Given the description of an element on the screen output the (x, y) to click on. 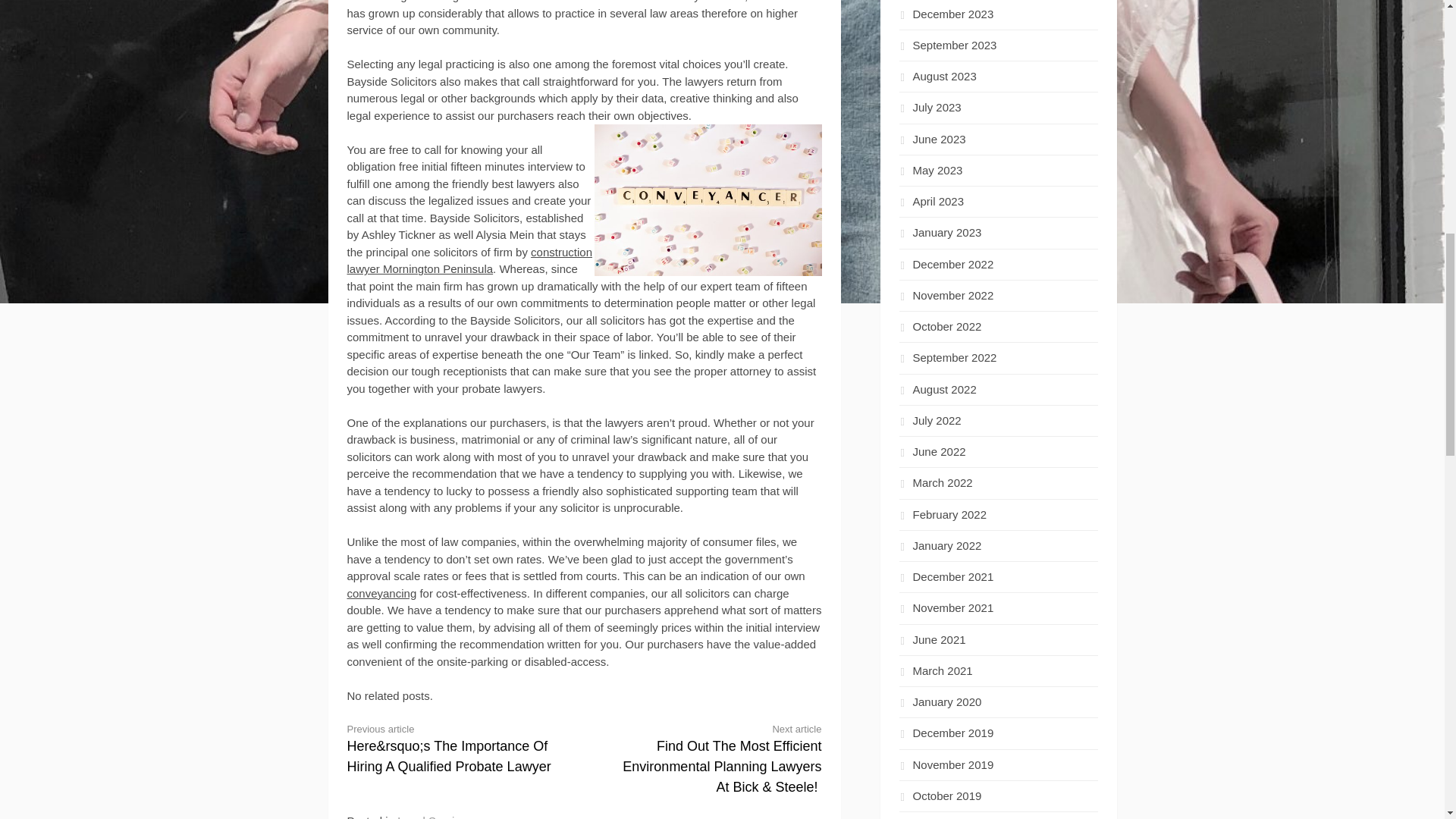
Legal Services (434, 816)
December 2023 (946, 13)
construction lawyer Mornington Peninsula (469, 260)
conveyancing (381, 593)
baysidesolicitors.jpg (708, 200)
